Given the description of an element on the screen output the (x, y) to click on. 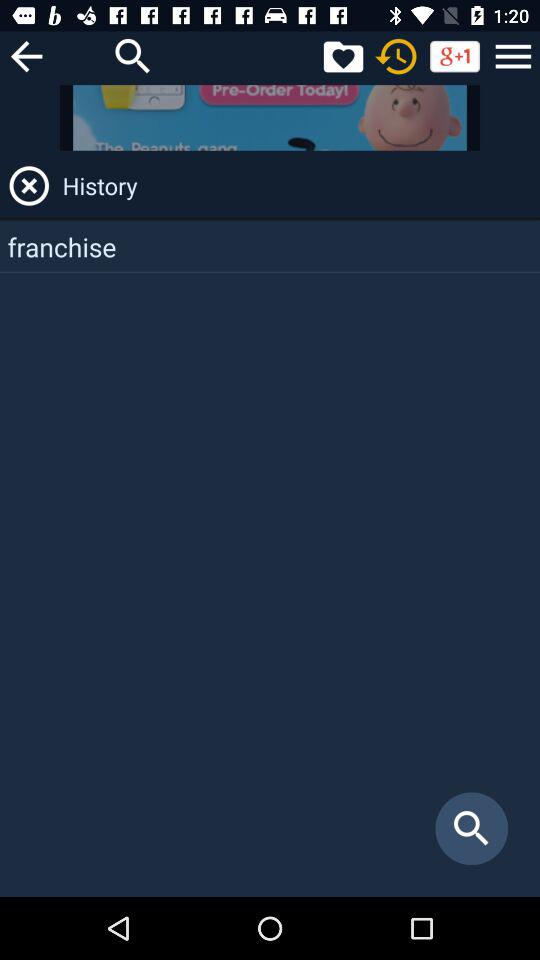
launch item next to the history icon (29, 185)
